Given the description of an element on the screen output the (x, y) to click on. 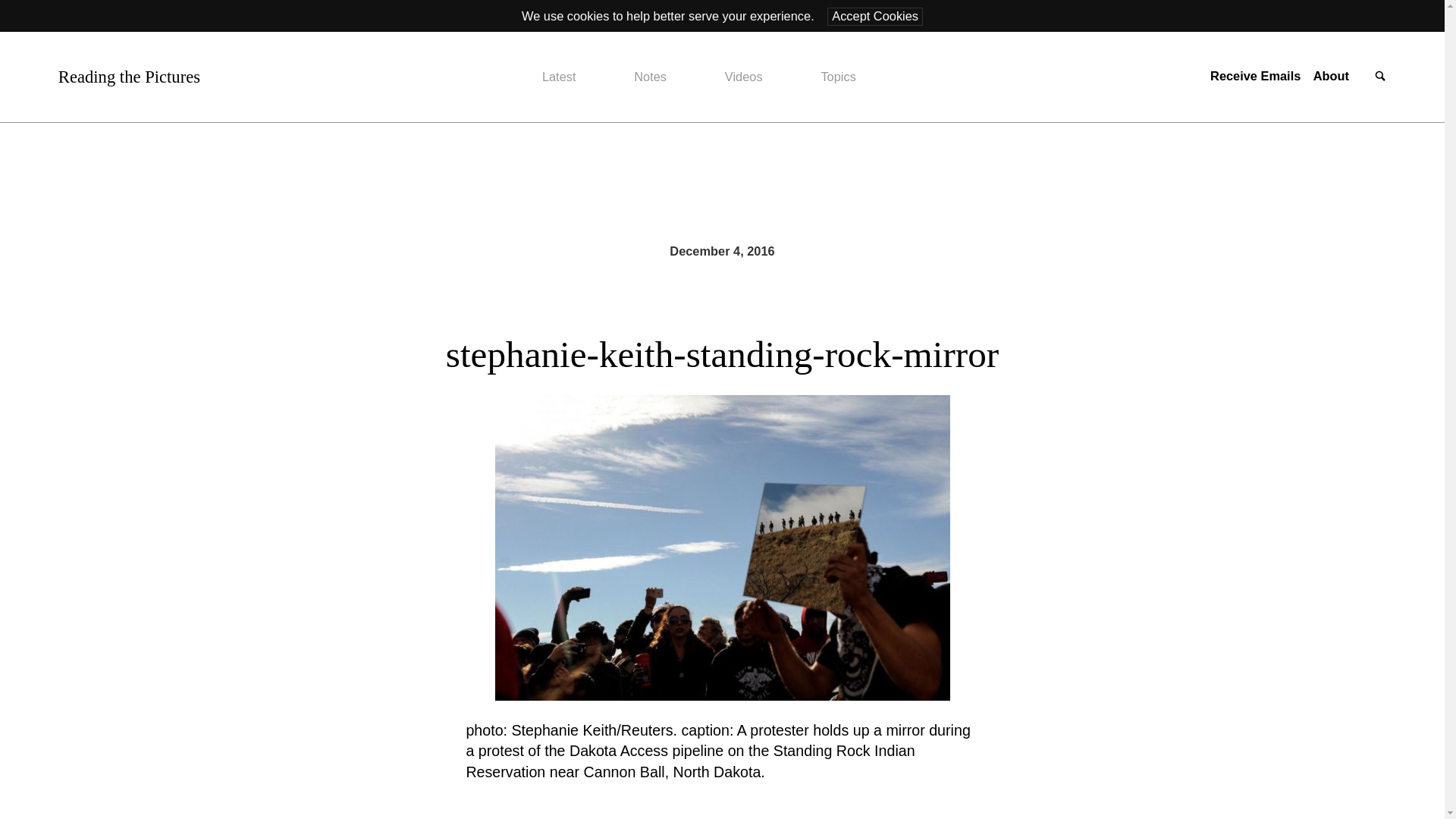
Newsletter Signup (1254, 75)
About (1331, 75)
search (1380, 78)
Reading the Pictures (129, 76)
Reading the Pictures (129, 76)
Accept Cookies (875, 16)
Receive Emails (1254, 75)
About (1331, 75)
